Given the description of an element on the screen output the (x, y) to click on. 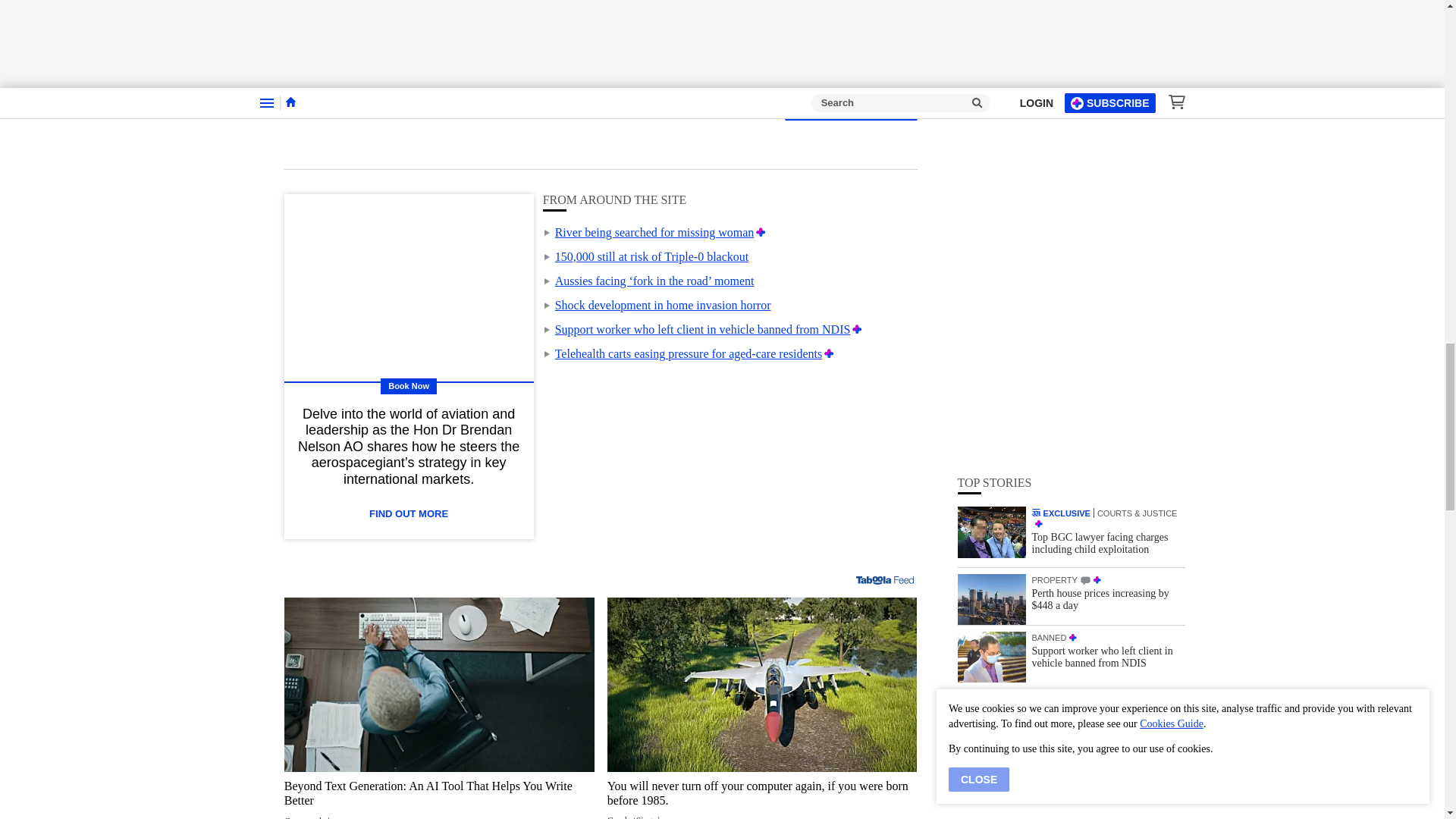
Premium (828, 353)
Premium (760, 232)
Premium (856, 328)
